Given the description of an element on the screen output the (x, y) to click on. 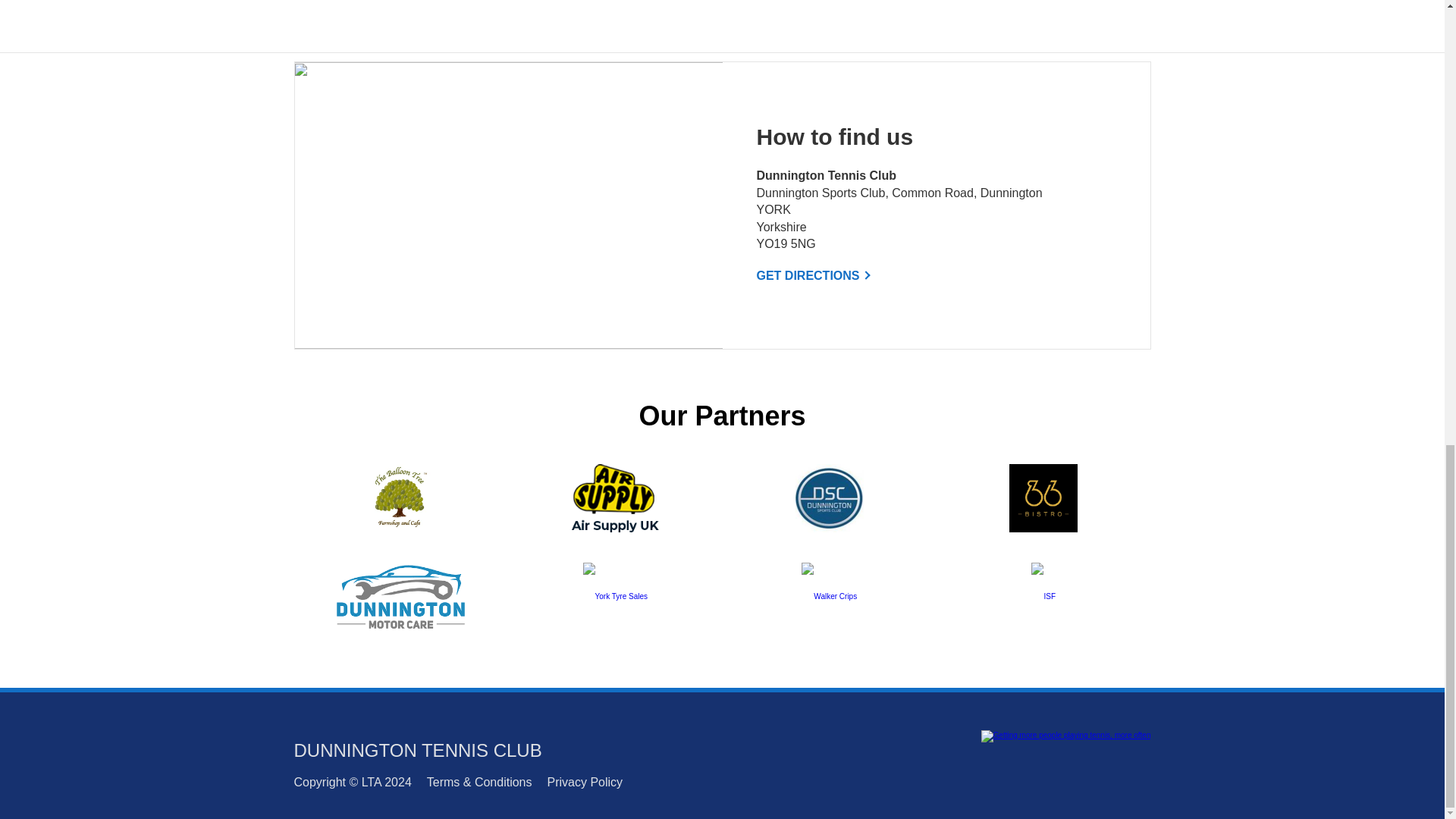
Dunnington Sports Club (828, 498)
66 Bistro (1043, 498)
Air Supply (615, 498)
Dunnington Motor Care (400, 596)
York Tyre Sales (614, 596)
